Given the description of an element on the screen output the (x, y) to click on. 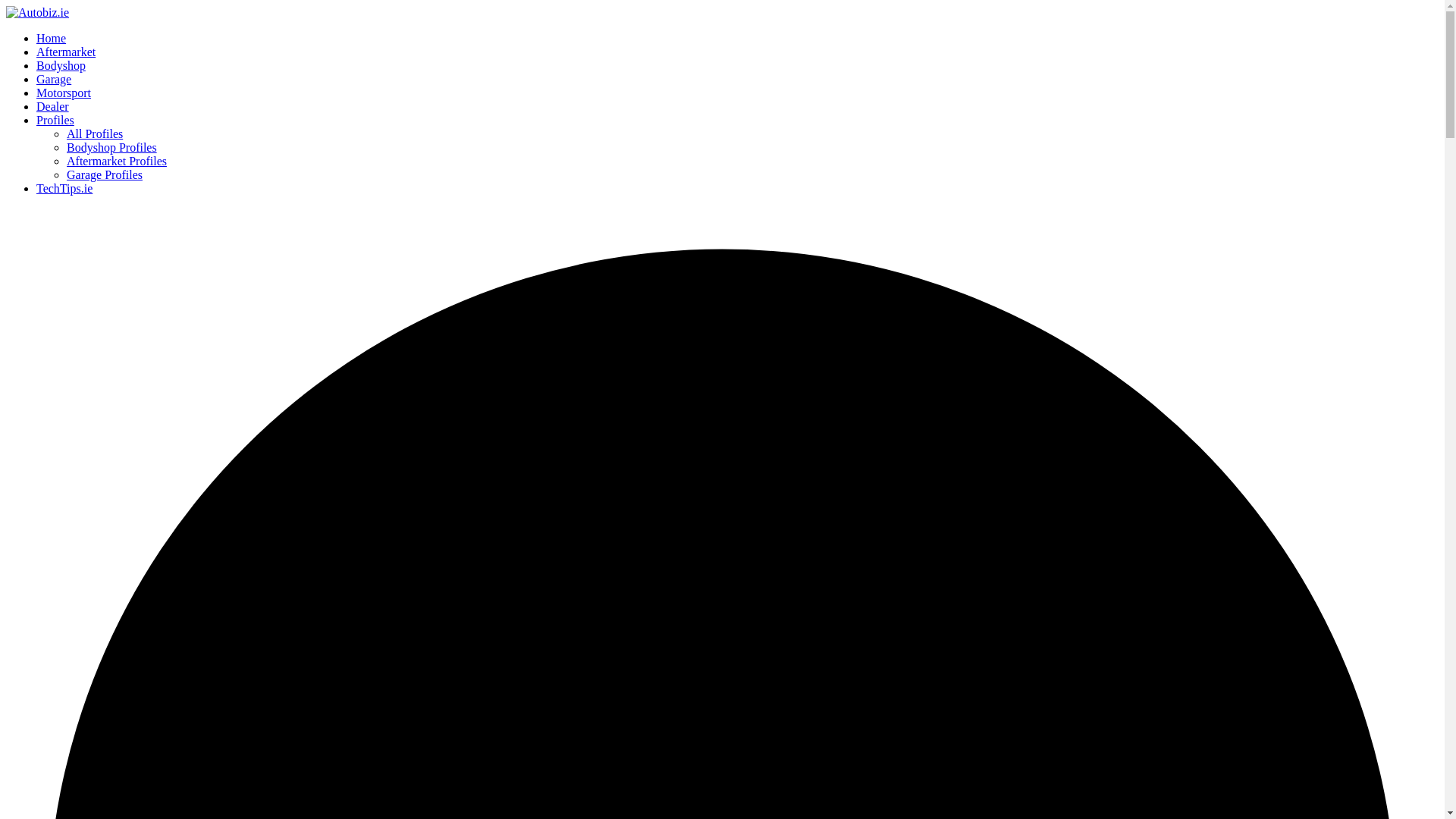
TechTips.ie (64, 187)
Garage (53, 78)
Bodyshop Profiles (111, 146)
Garage Profiles (104, 174)
All Profiles (94, 133)
Bodyshop (60, 65)
Profiles (55, 119)
Aftermarket (66, 51)
Dealer (52, 106)
Motorsport (63, 92)
Home (50, 38)
Aftermarket Profiles (116, 160)
